Given the description of an element on the screen output the (x, y) to click on. 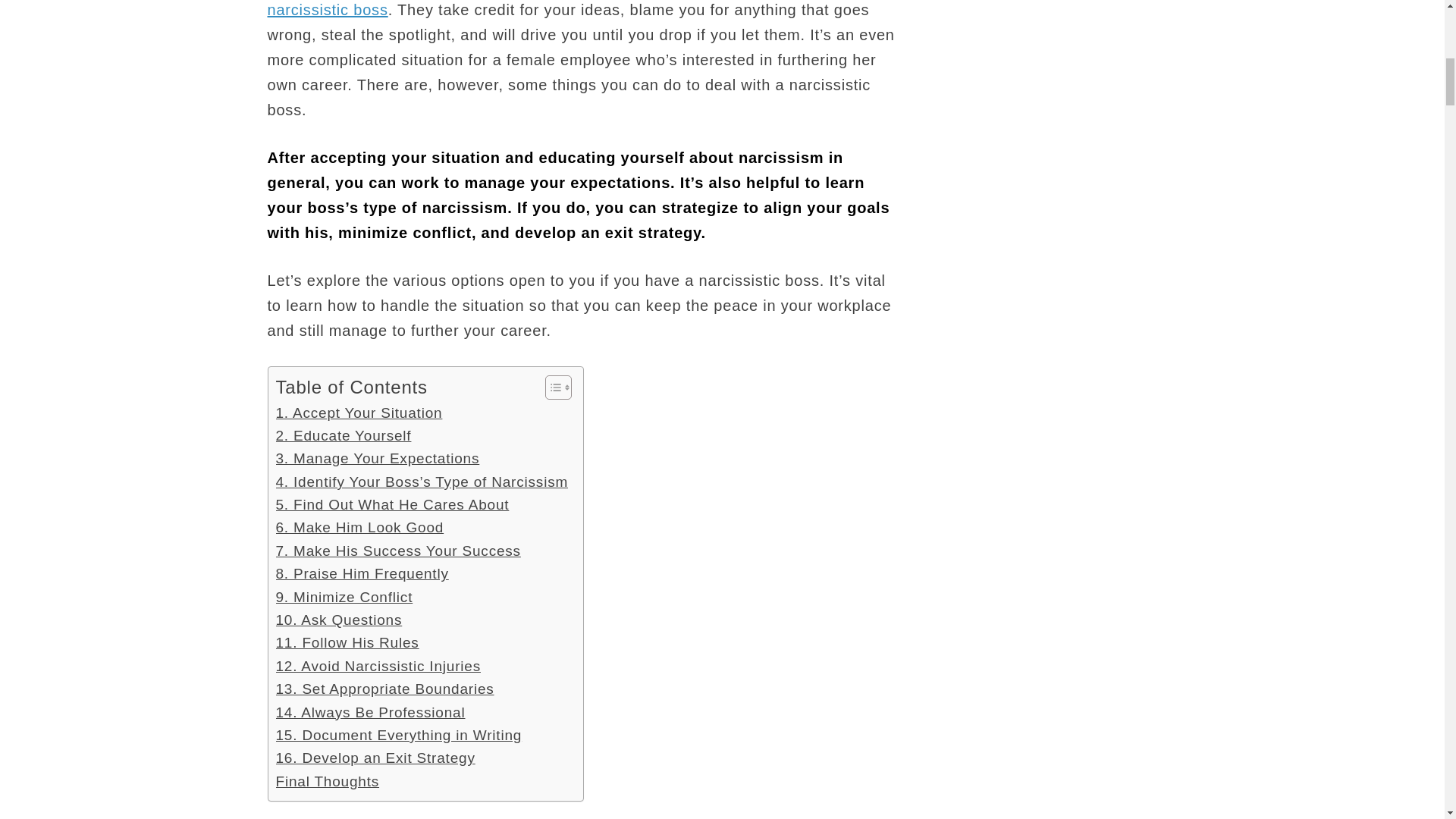
1. Accept Your Situation (359, 413)
6. Make Him Look Good (360, 527)
12. Avoid Narcissistic Injuries (378, 666)
8. Praise Him Frequently (362, 573)
16. Develop an Exit Strategy (376, 757)
3. Manage Your Expectations (378, 458)
15. Document Everything in Writing (399, 734)
Final Thoughts (328, 781)
9. Minimize Conflict (344, 597)
2. Educate Yourself (344, 436)
